Given the description of an element on the screen output the (x, y) to click on. 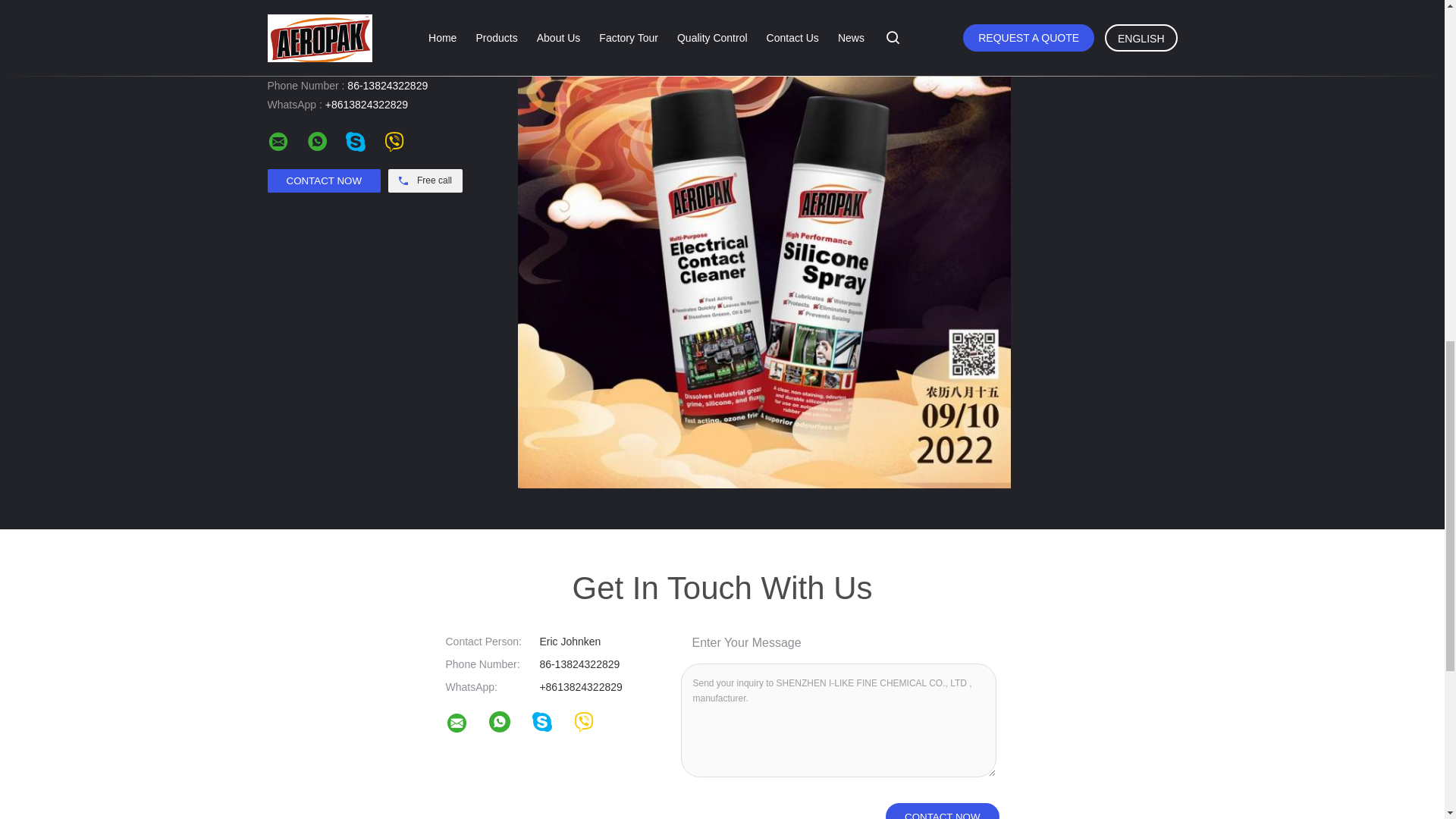
Contact Now (941, 811)
Contact Now (323, 180)
